Given the description of an element on the screen output the (x, y) to click on. 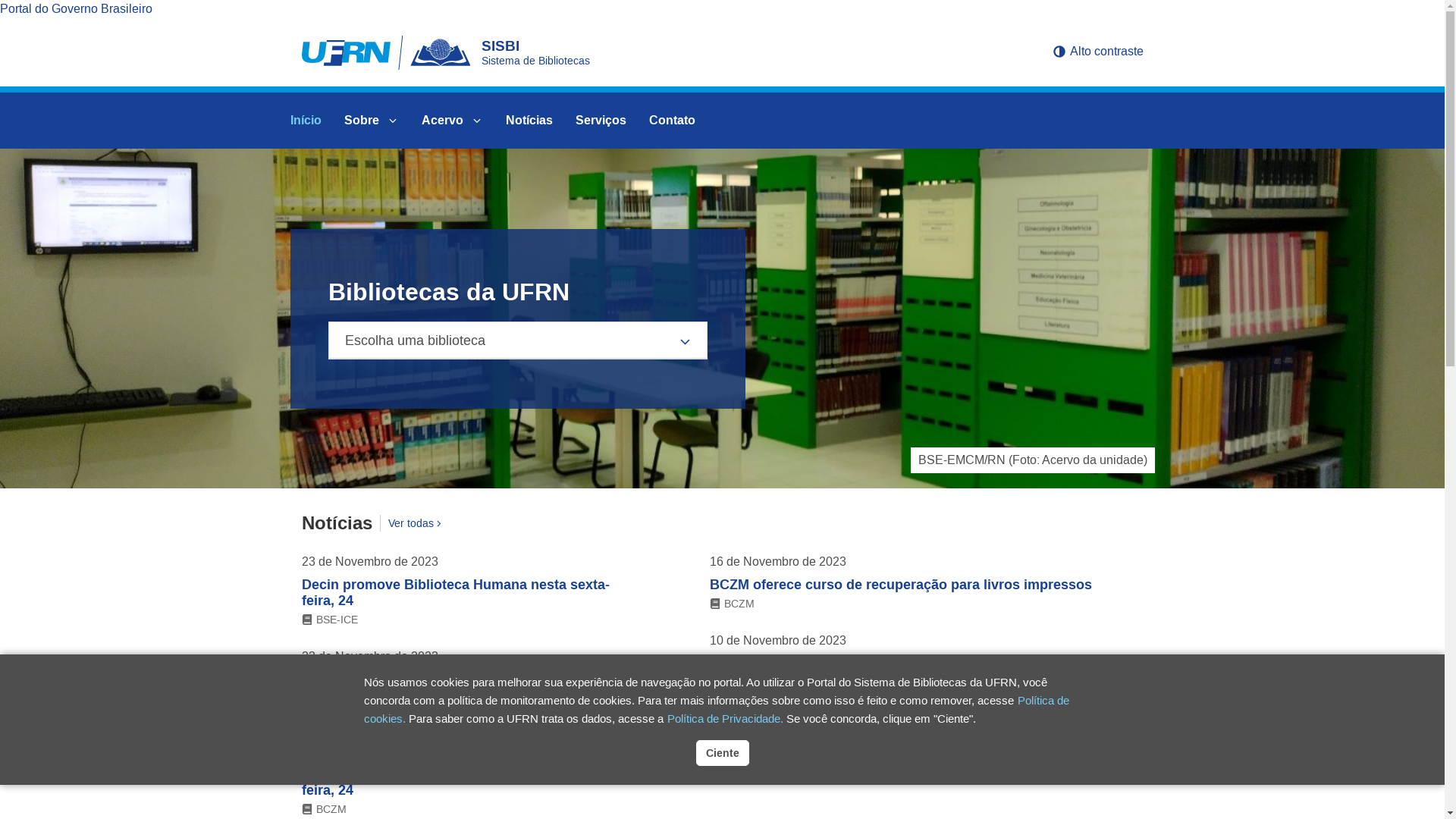
Sobre Element type: text (370, 120)
Ver todas Element type: text (411, 522)
Decin promove Biblioteca Humana nesta sexta-feira, 24 Element type: text (455, 781)
SISBI
Sistema de Bibliotecas Element type: text (659, 51)
Acervo Element type: text (451, 120)
Portal do Governo Brasileiro Element type: text (76, 8)
Contato Element type: text (671, 120)
Decin promove Biblioteca Humana nesta sexta-feira, 24 Element type: text (455, 592)
Alto contraste Element type: text (1097, 50)
Ciente Element type: text (722, 752)
Alterar para o modo de contraste Element type: hover (1059, 50)
